Given the description of an element on the screen output the (x, y) to click on. 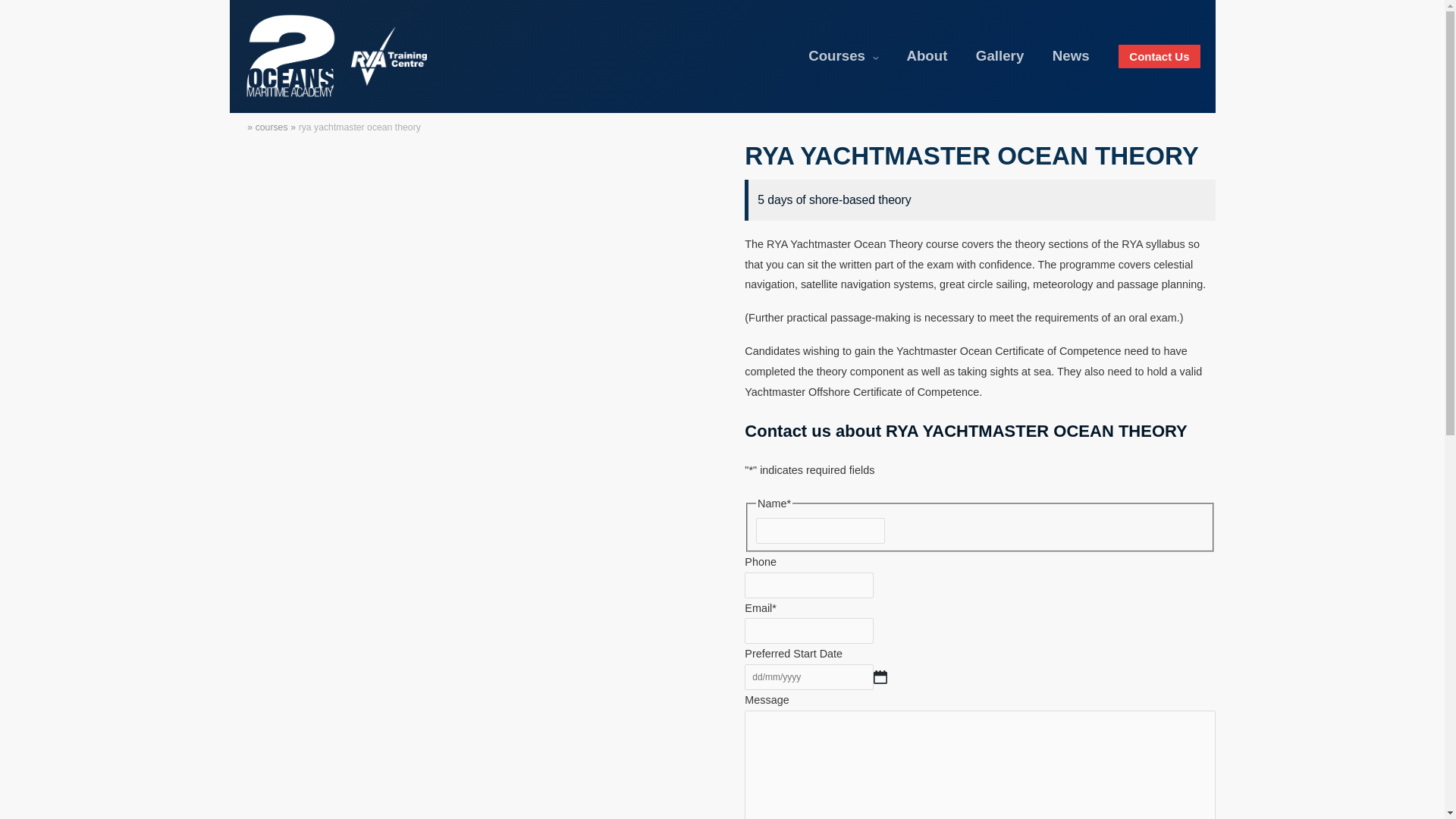
Contact Us Element type: text (1158, 56)
Select date Element type: hover (880, 677)
News Element type: text (1070, 55)
courses Element type: text (271, 127)
Gallery Element type: text (999, 55)
About Element type: text (926, 55)
Courses Element type: text (842, 55)
